Given the description of an element on the screen output the (x, y) to click on. 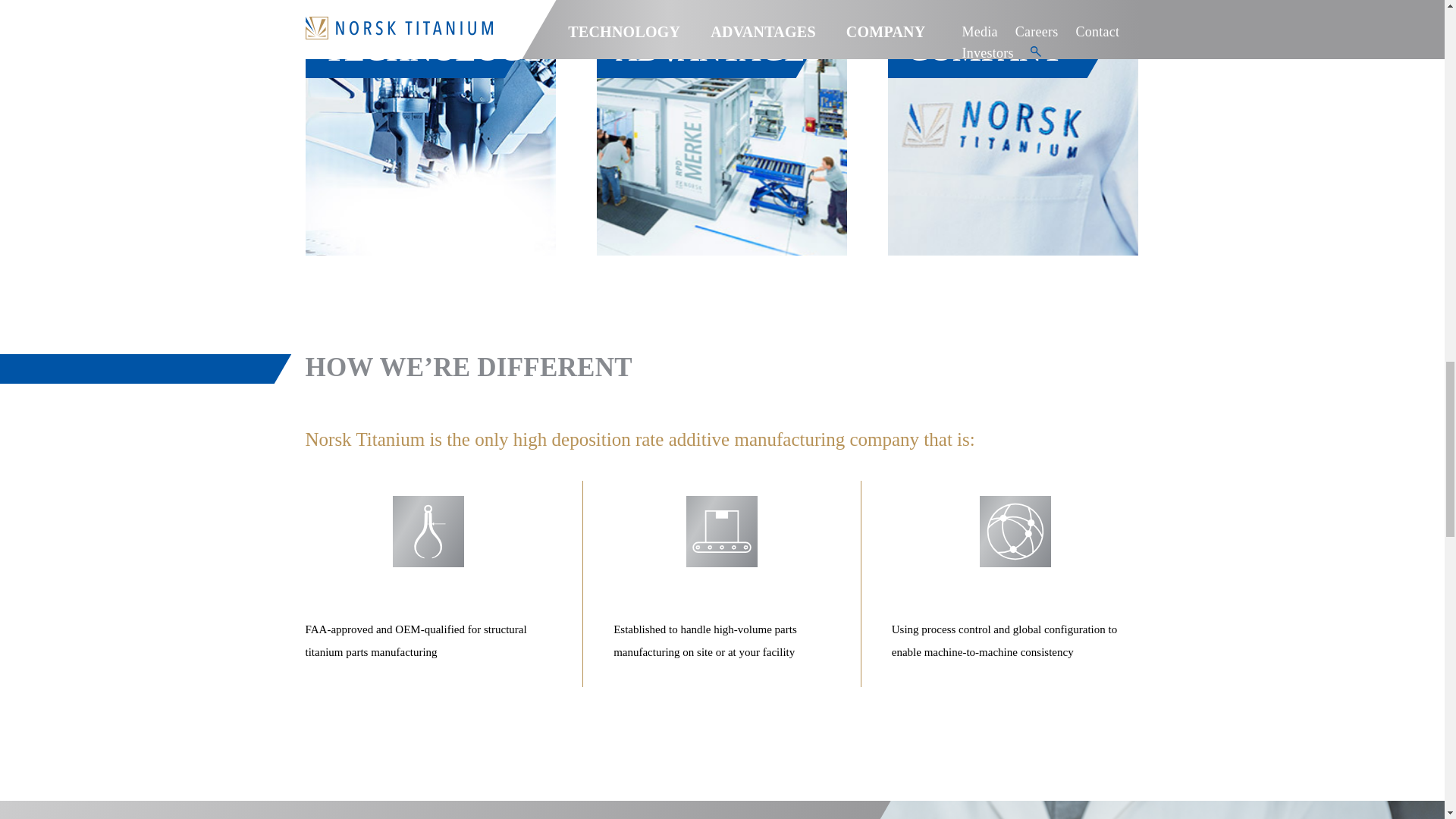
TECHNOLOGY (429, 129)
ADVANTAGES (721, 129)
